Given the description of an element on the screen output the (x, y) to click on. 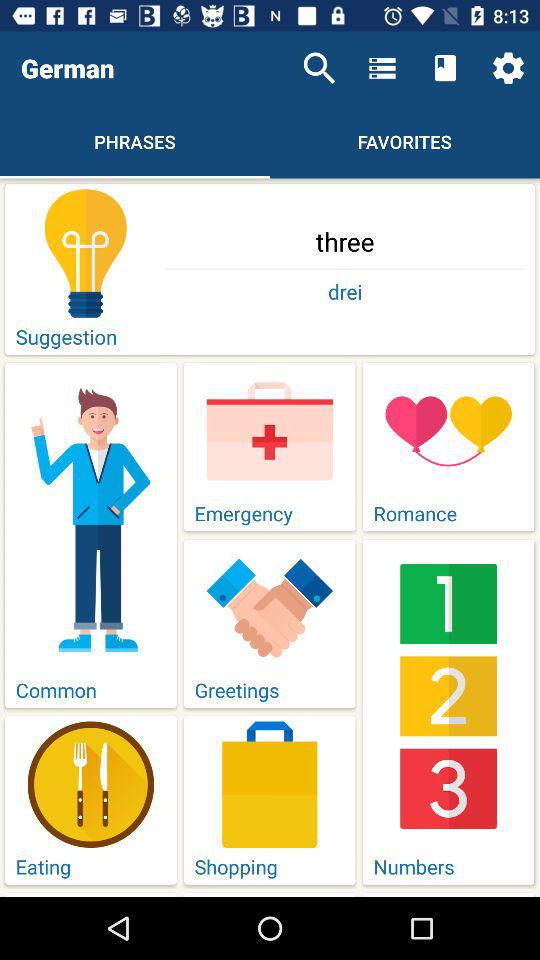
turn off item next to the german item (319, 67)
